Given the description of an element on the screen output the (x, y) to click on. 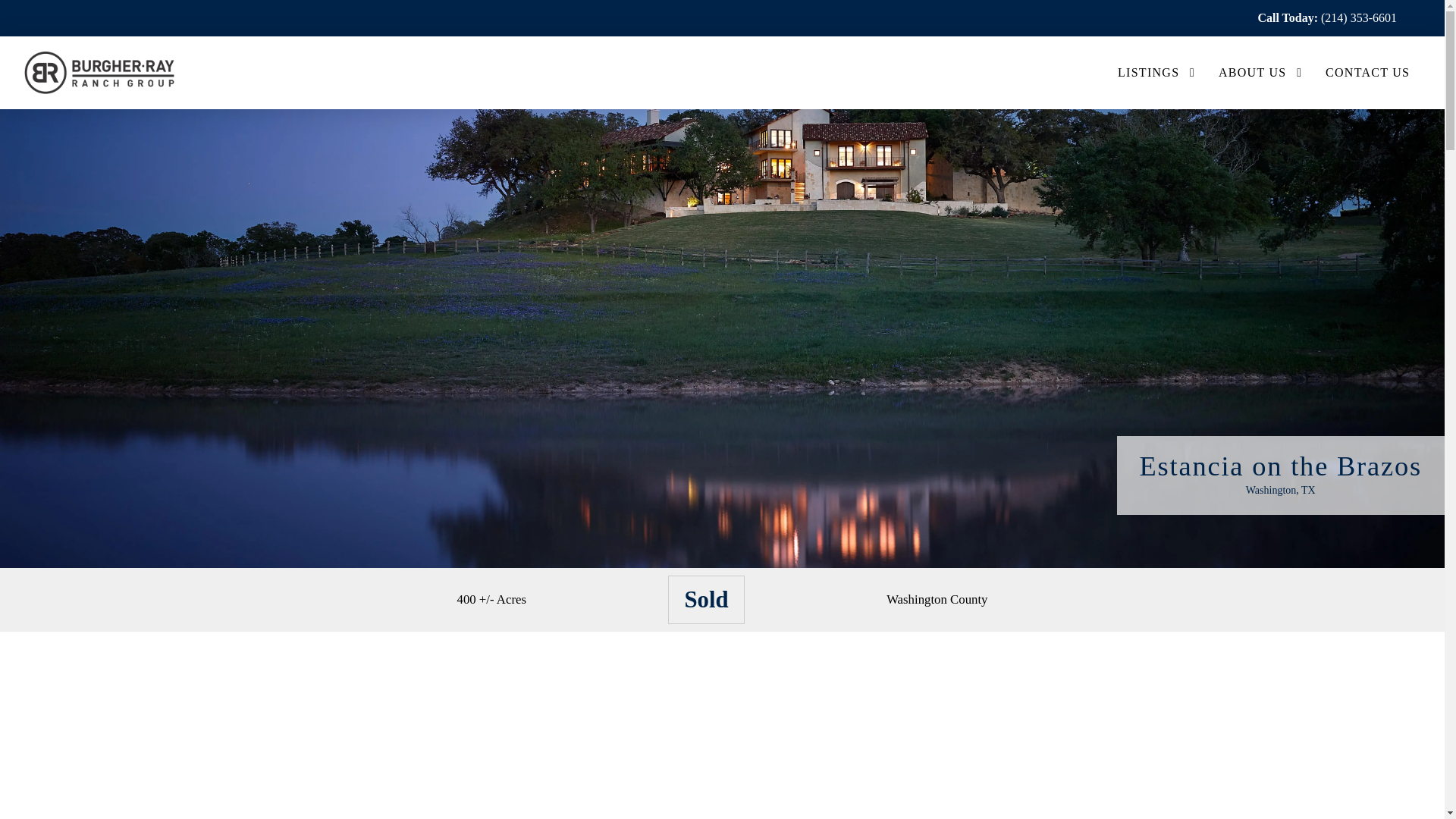
CONTACT US (1362, 72)
ABOUT US (1251, 72)
LISTINGS (1147, 72)
